Given the description of an element on the screen output the (x, y) to click on. 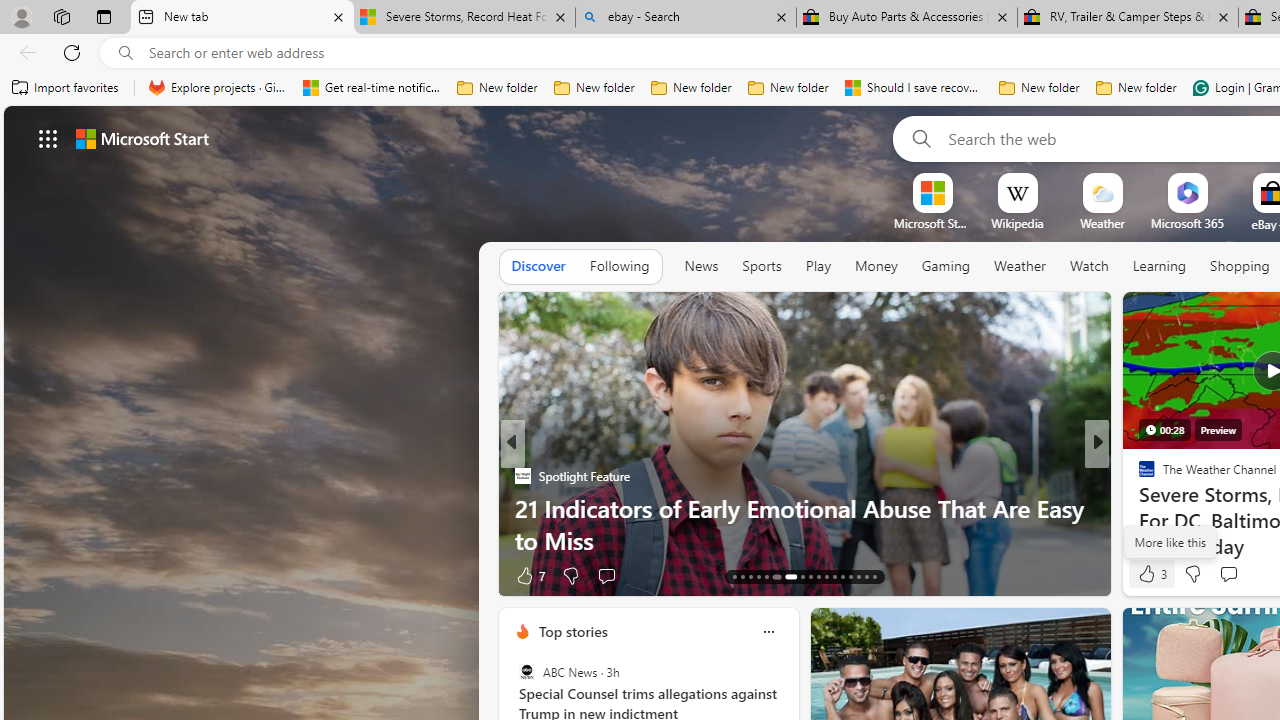
View comments 1 Comment (1234, 575)
AutomationID: tab-27 (857, 576)
Wikipedia (1017, 223)
NBC News (1138, 475)
AutomationID: tab-13 (733, 576)
